Given the description of an element on the screen output the (x, y) to click on. 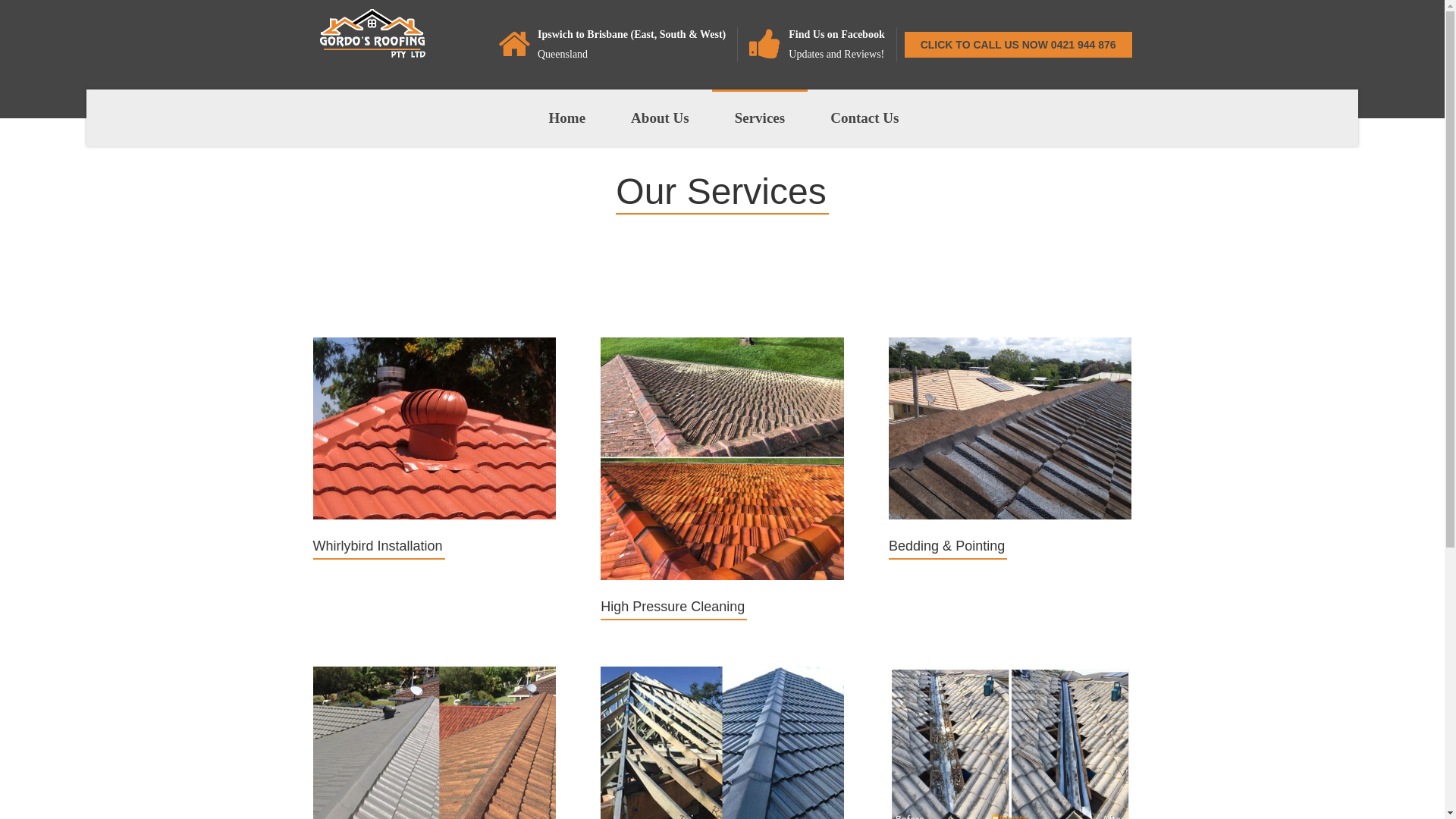
Contact Us Element type: text (864, 117)
Services Element type: text (759, 117)
Find Us on Facebook
Updates and Reviews! Element type: text (822, 44)
CLICK TO CALL US NOW 0421 944 876 Element type: text (1018, 44)
About Us Element type: text (660, 117)
Home Element type: text (567, 117)
